Given the description of an element on the screen output the (x, y) to click on. 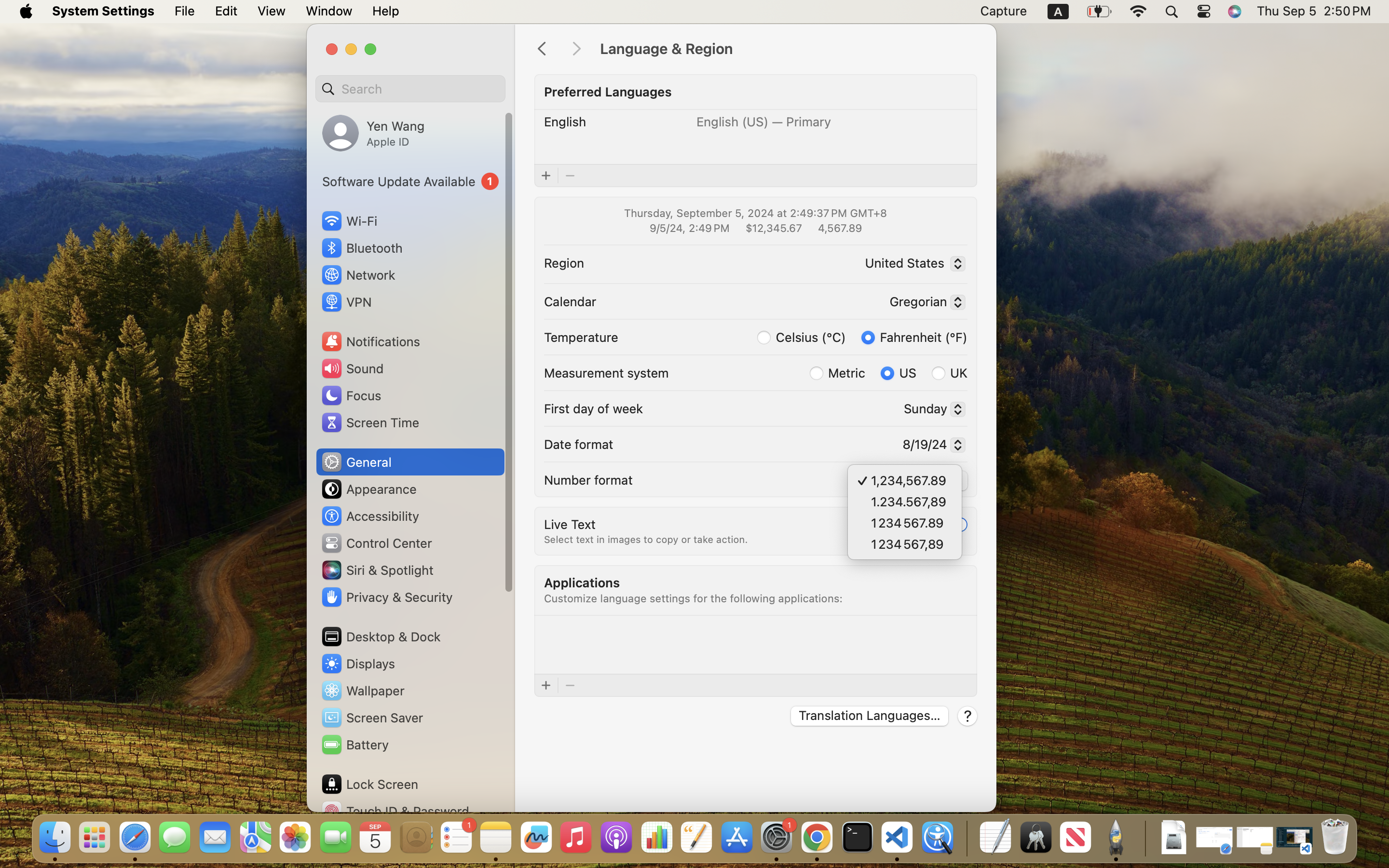
VPN Element type: AXStaticText (345, 301)
Language & Region Element type: AXStaticText (788, 49)
$12,345.67 Element type: AXStaticText (772, 227)
Sound Element type: AXStaticText (351, 367)
Yen Wang, Apple ID Element type: AXStaticText (373, 132)
